Given the description of an element on the screen output the (x, y) to click on. 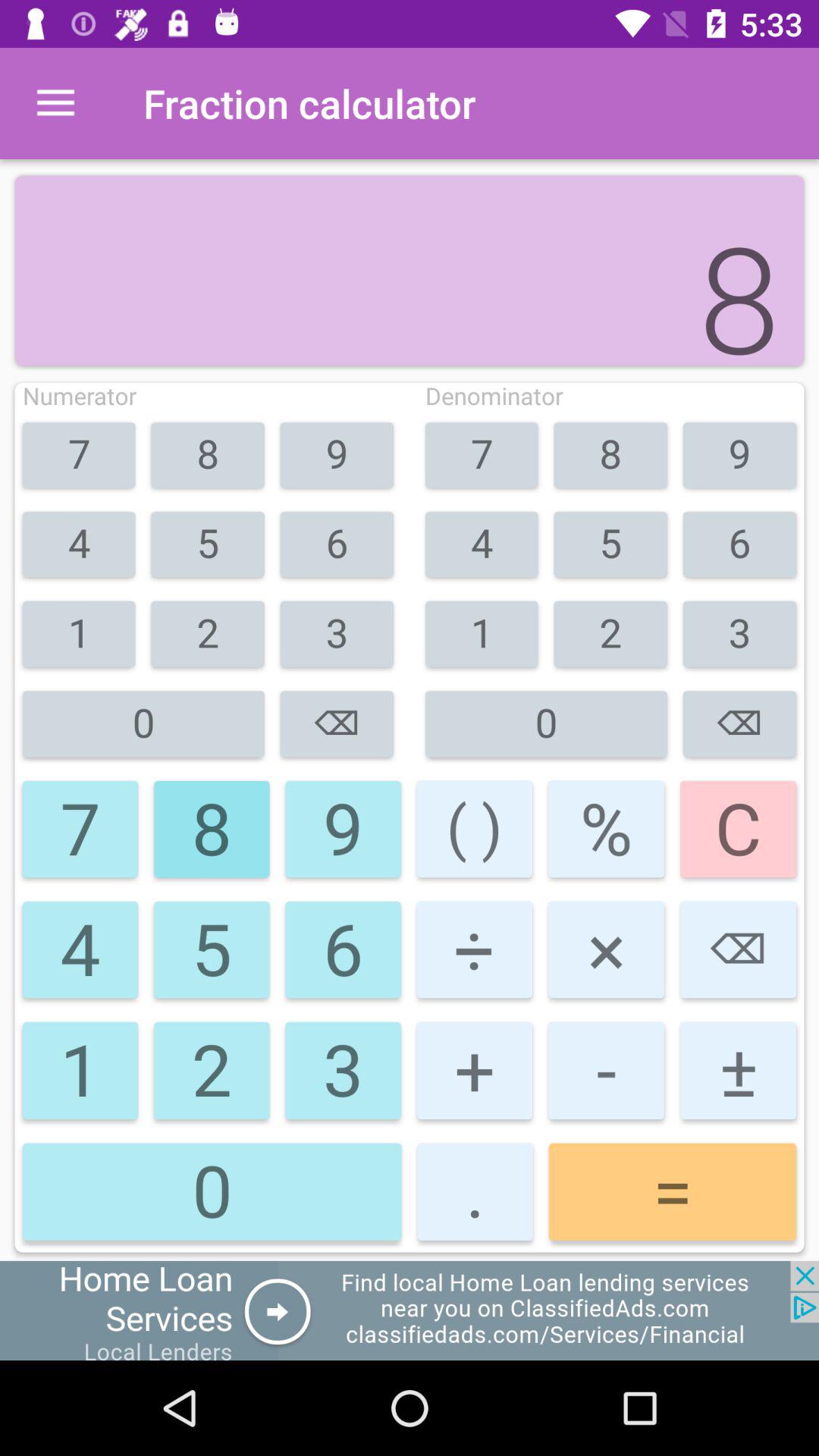
enter box (409, 1310)
